Given the description of an element on the screen output the (x, y) to click on. 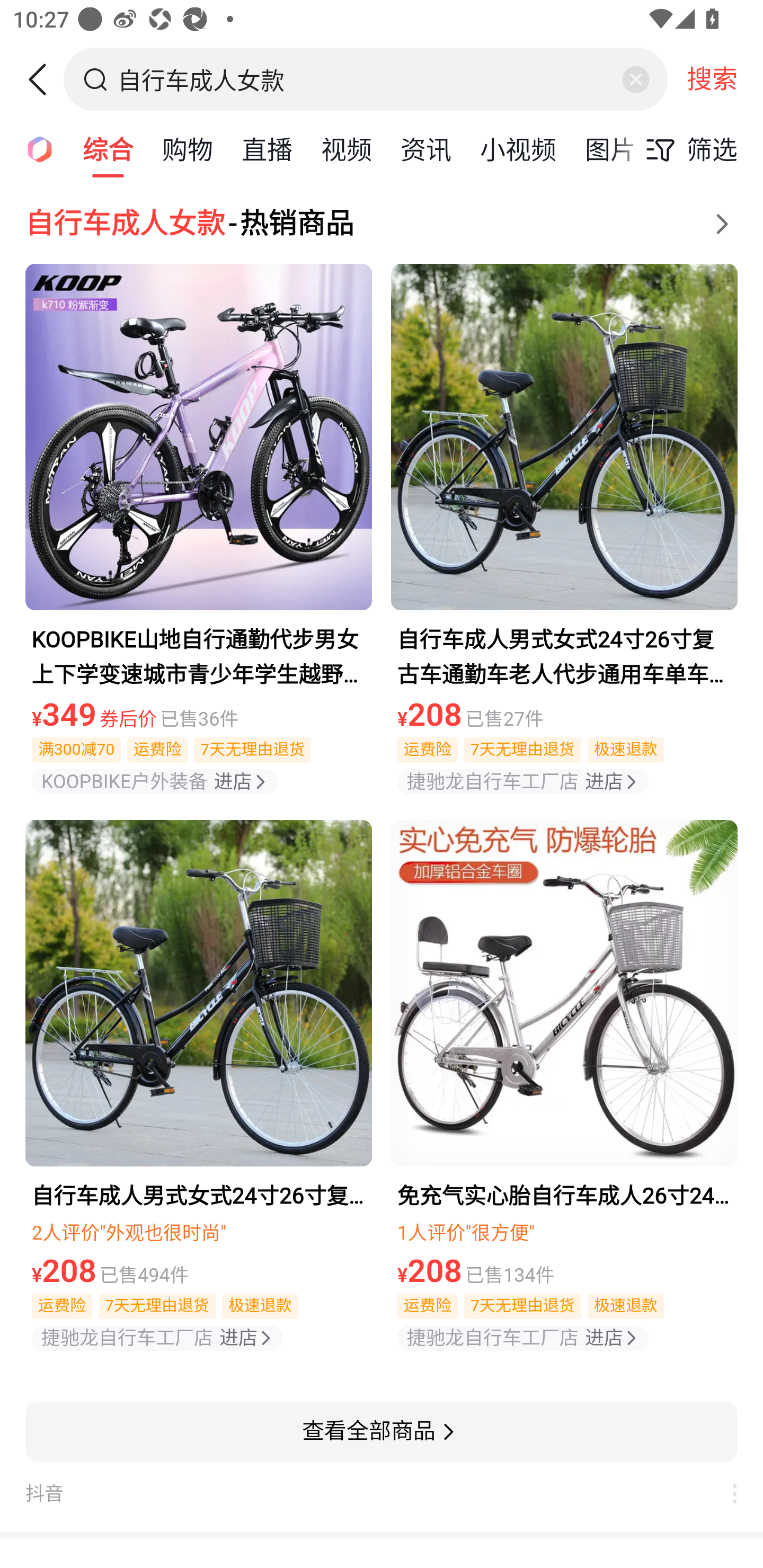
搜索框，自行车成人女款 (366, 79)
搜索 (711, 79)
返回 (44, 79)
清除 (635, 79)
购物 (187, 148)
直播 (266, 148)
视频 (346, 148)
资讯 (425, 148)
小视频 (517, 148)
图片 (610, 148)
筛选 (686, 149)
AI问答 (34, 148)
自行车成人女款 -热销商品 (381, 223)
查看全部商品 (381, 1431)
抖音 (368, 1493)
举报反馈 (724, 1493)
